Given the description of an element on the screen output the (x, y) to click on. 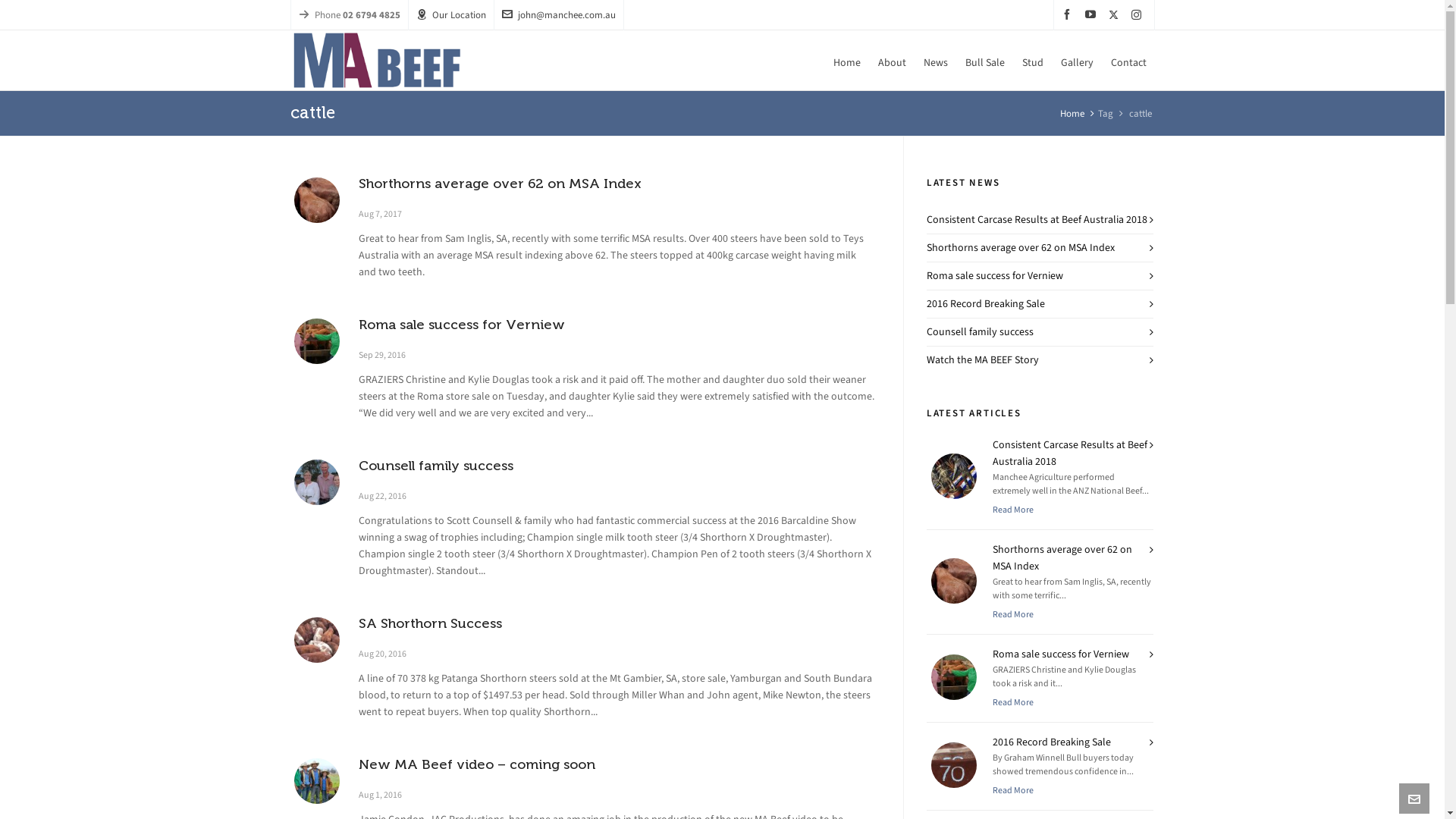
john@manchee.com.au Element type: text (558, 15)
Gallery Element type: text (1076, 60)
Roma sale success for Verniew Element type: text (994, 275)
SA Shorthorn Success Element type: text (429, 622)
Counsell family success Element type: text (979, 331)
Stud Element type: text (1032, 60)
Roma sale success for Verniew Element type: text (1060, 653)
2016 Record Breaking Sale Element type: text (1051, 741)
Read More Element type: text (1012, 790)
Home Element type: text (847, 60)
Counsell family success Element type: hover (315, 481)
Shorthorns average over 62 on MSA Index Element type: text (498, 183)
About Element type: text (891, 60)
Consistent Carcase Results at Beef Australia 2018 Element type: text (1069, 452)
Home Element type: text (1072, 112)
Read More Element type: text (1012, 614)
Shorthorns average over 62 on MSA Index Element type: text (1062, 557)
Contact Element type: text (1128, 60)
Shorthorns average over 62 on MSA Index Element type: text (1020, 247)
Watch the MA BEEF Story Element type: text (982, 359)
Read More Element type: text (1012, 509)
Our Location Element type: text (450, 15)
Shorthorns average over 62 on MSA Index Element type: hover (315, 199)
2016 Record Breaking Sale Element type: text (985, 303)
Bull Sale Element type: text (985, 60)
News Element type: text (934, 60)
Roma sale success for Verniew Element type: text (460, 324)
Roma sale success for Verniew Element type: hover (315, 340)
Read More Element type: text (1012, 702)
SA Shorthorn Success Element type: hover (315, 639)
Consistent Carcase Results at Beef Australia 2018 Element type: text (1036, 219)
Counsell family success Element type: text (434, 465)
